Given the description of an element on the screen output the (x, y) to click on. 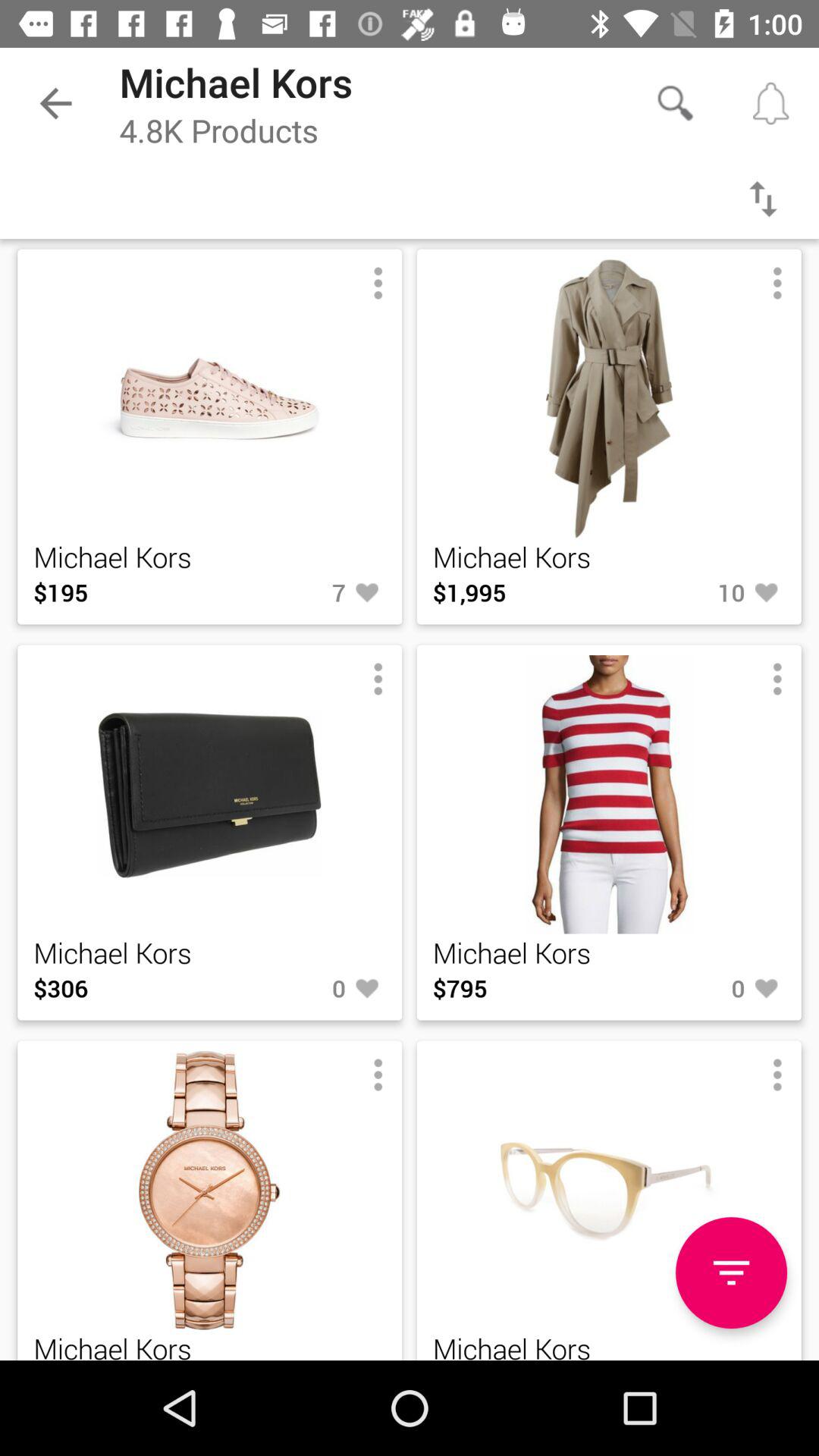
swipe until 10 (697, 592)
